Given the description of an element on the screen output the (x, y) to click on. 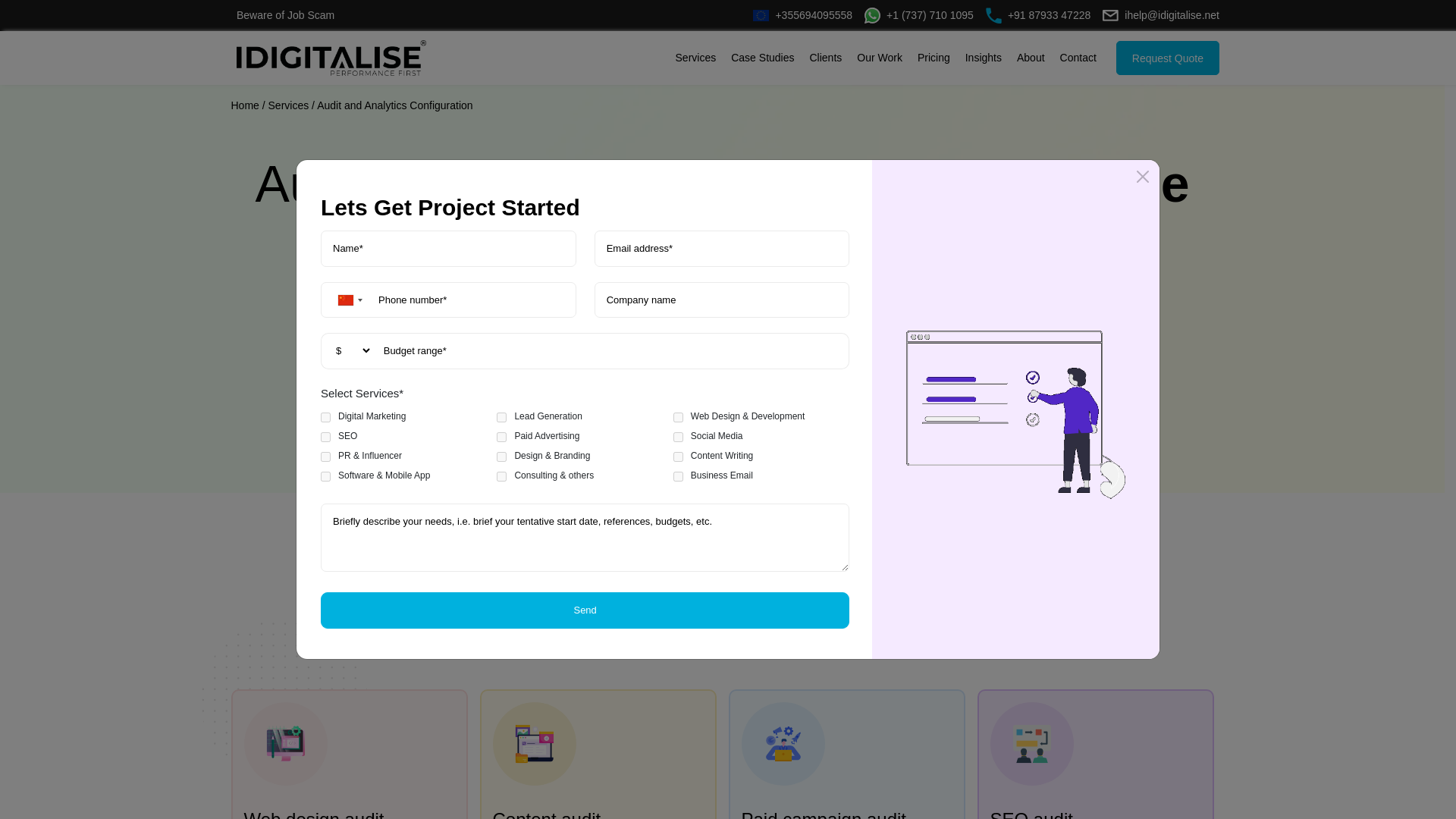
SEO (325, 437)
Lead Generation (501, 417)
Services (695, 57)
Social Media (677, 437)
Beware of Job Scam (284, 15)
Paid Advertising (501, 437)
Send (584, 610)
Content Writing (677, 456)
Business Email (677, 476)
Digital Marketing (325, 417)
